Given the description of an element on the screen output the (x, y) to click on. 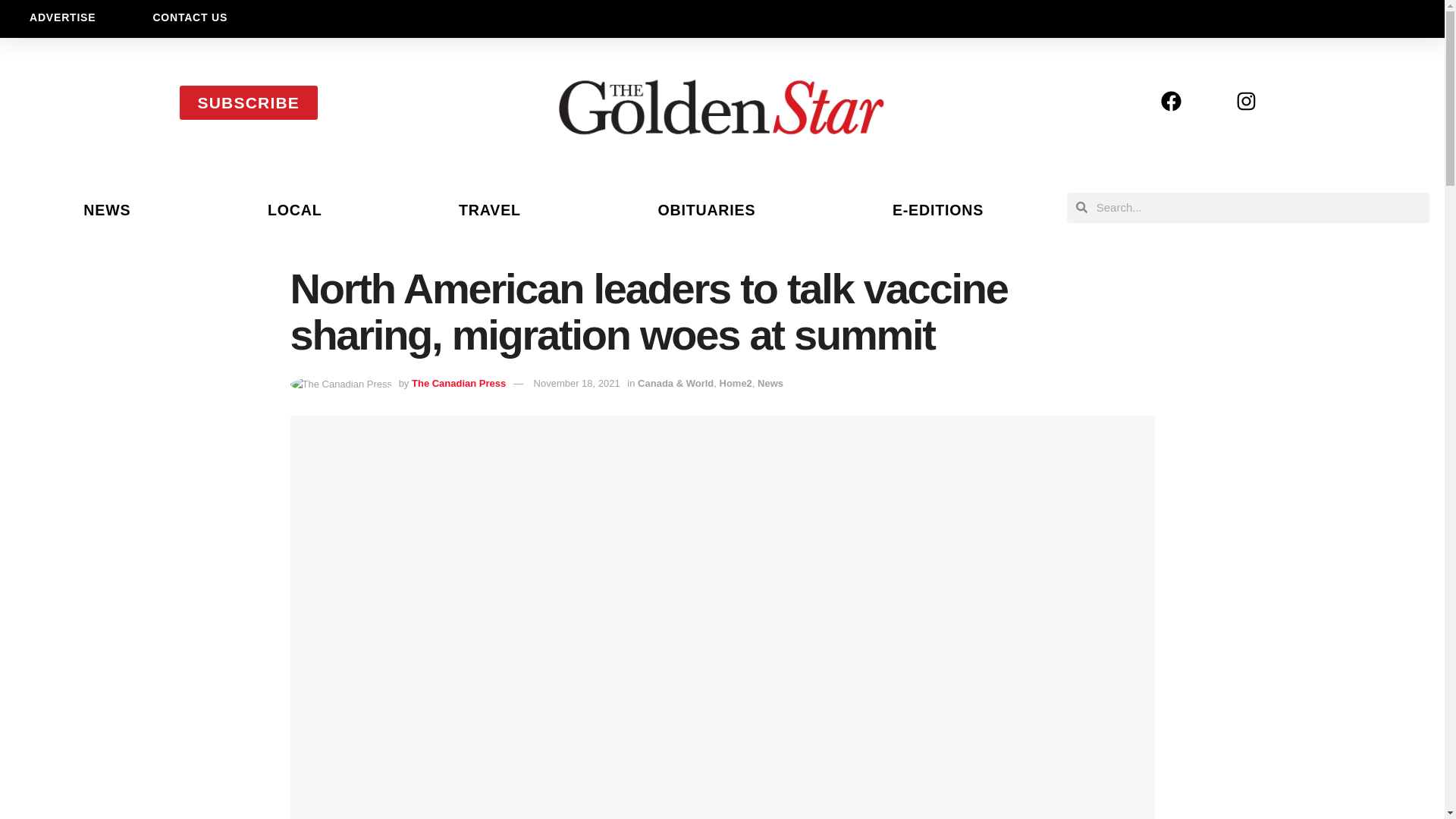
News (770, 383)
ADVERTISE (62, 17)
SUBSCRIBE (248, 102)
CONTACT US (189, 17)
NEWS (106, 209)
The Canadian Press (458, 383)
E-EDITIONS (938, 209)
Home2 (735, 383)
November 18, 2021 (577, 383)
TRAVEL (489, 209)
LOCAL (294, 209)
OBITUARIES (706, 209)
